Given the description of an element on the screen output the (x, y) to click on. 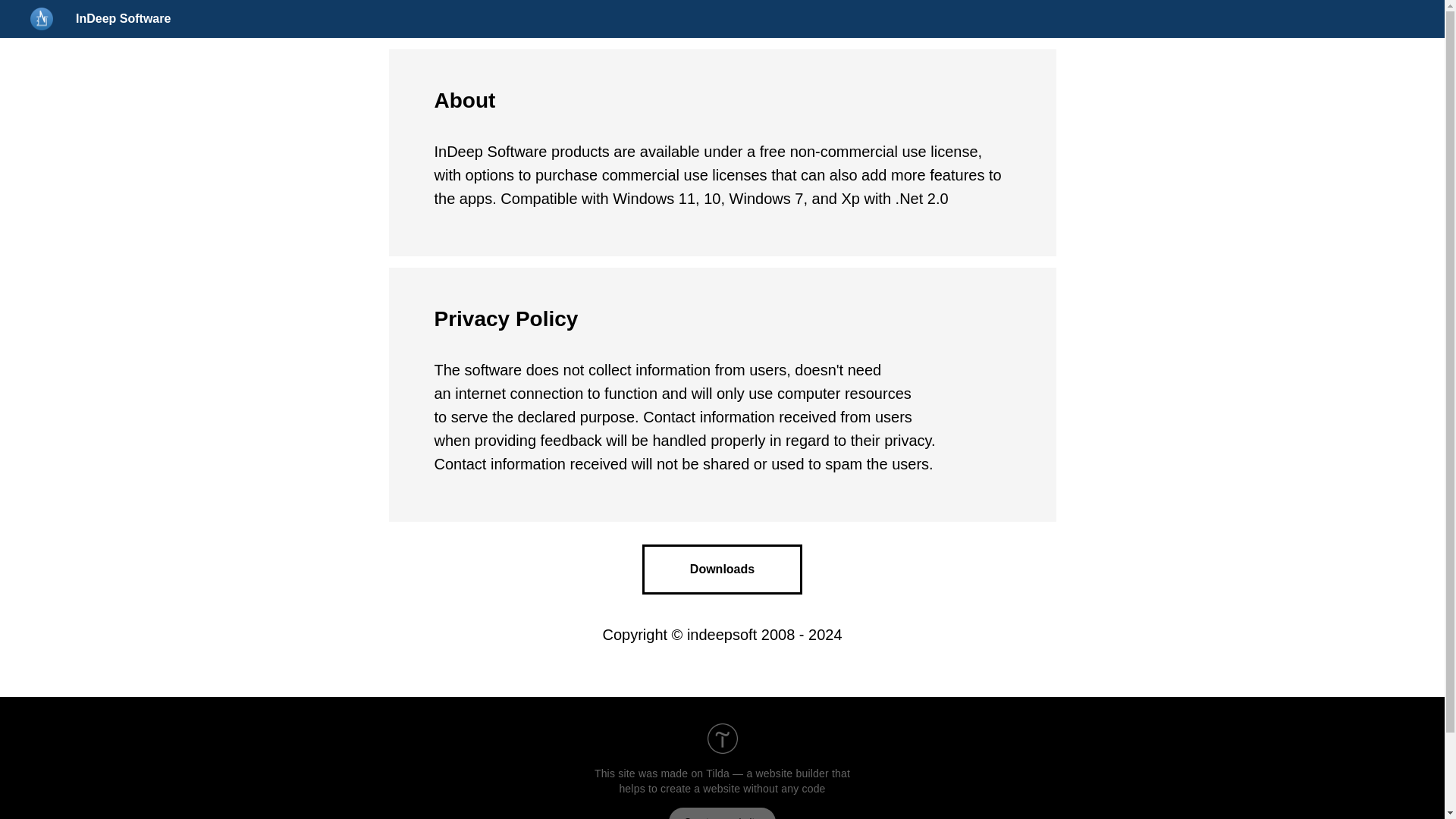
Downloads (722, 569)
InDeep Software (122, 18)
Create a website (722, 813)
